Given the description of an element on the screen output the (x, y) to click on. 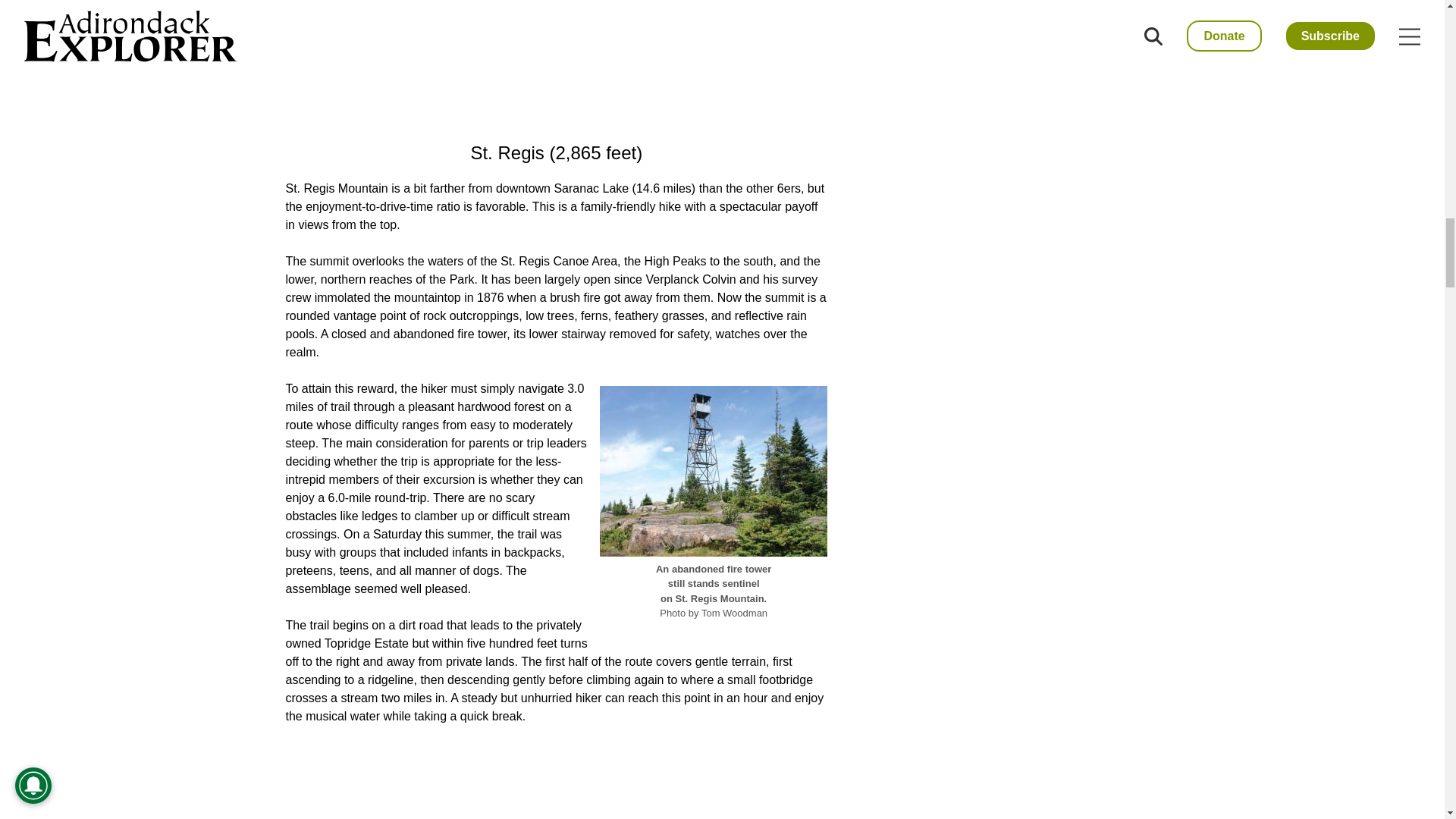
3rd party ad content (555, 781)
3rd party ad content (555, 61)
